Given the description of an element on the screen output the (x, y) to click on. 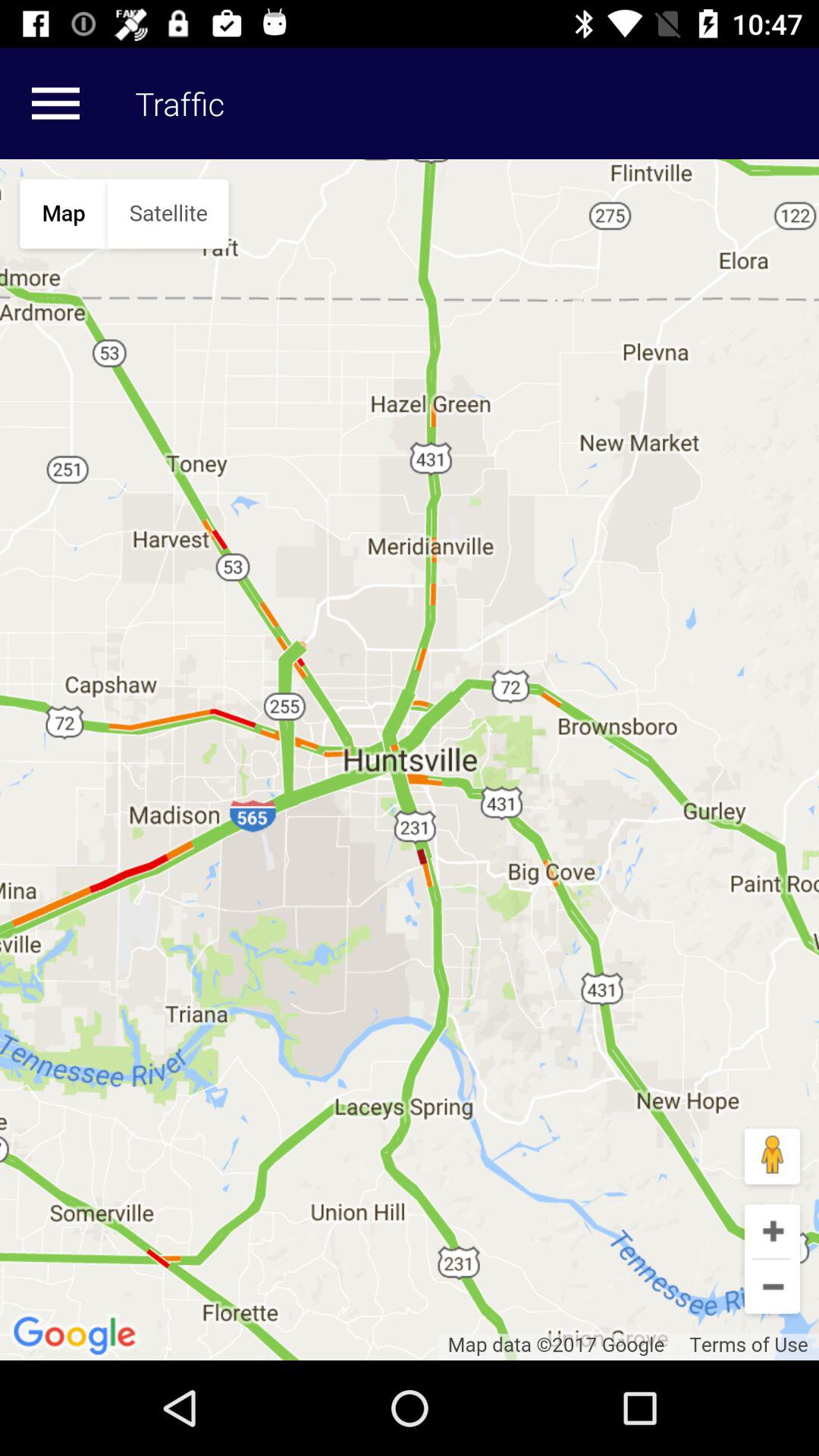
click on the map (409, 759)
